Given the description of an element on the screen output the (x, y) to click on. 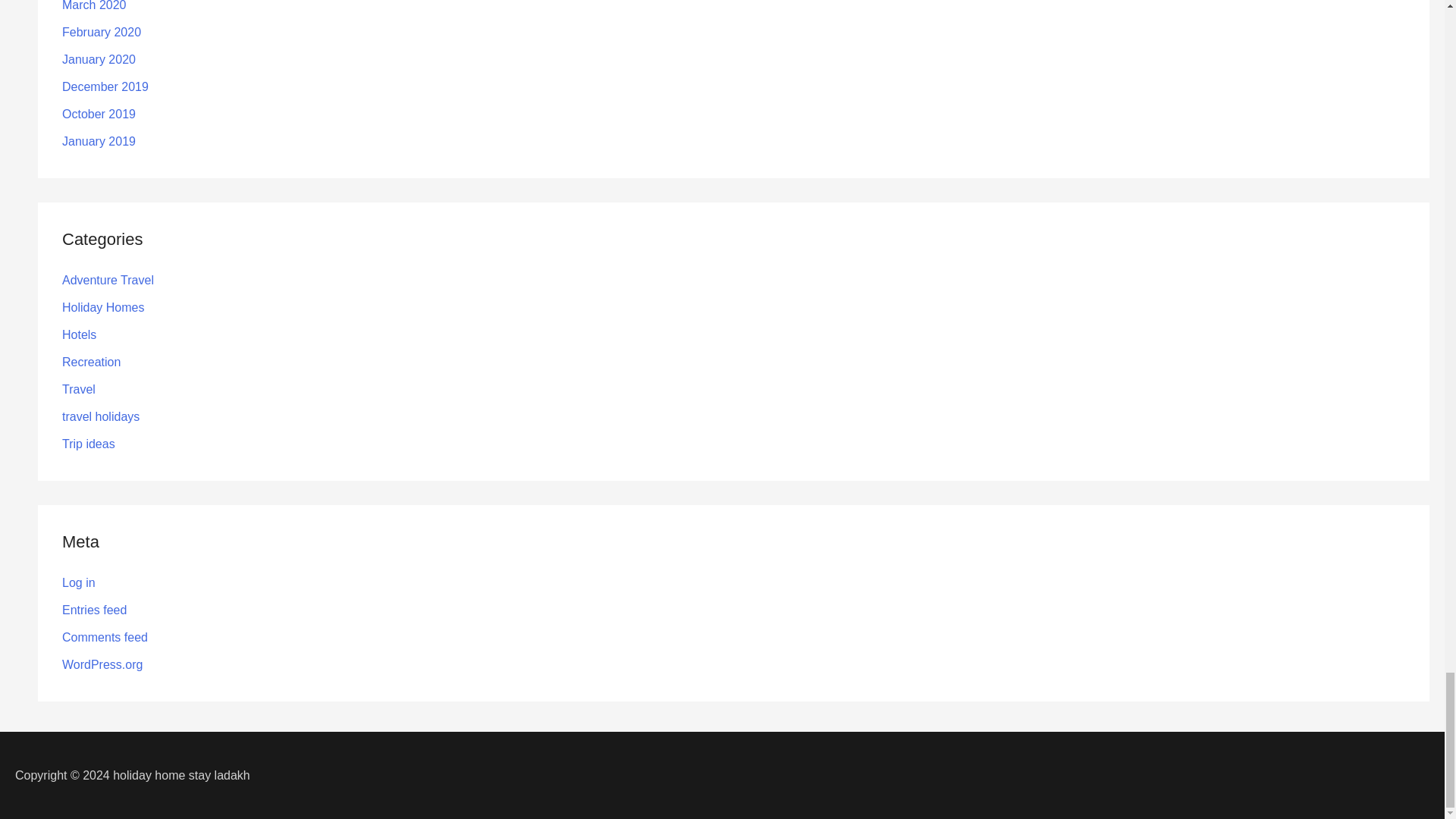
March 2020 (94, 5)
